Given the description of an element on the screen output the (x, y) to click on. 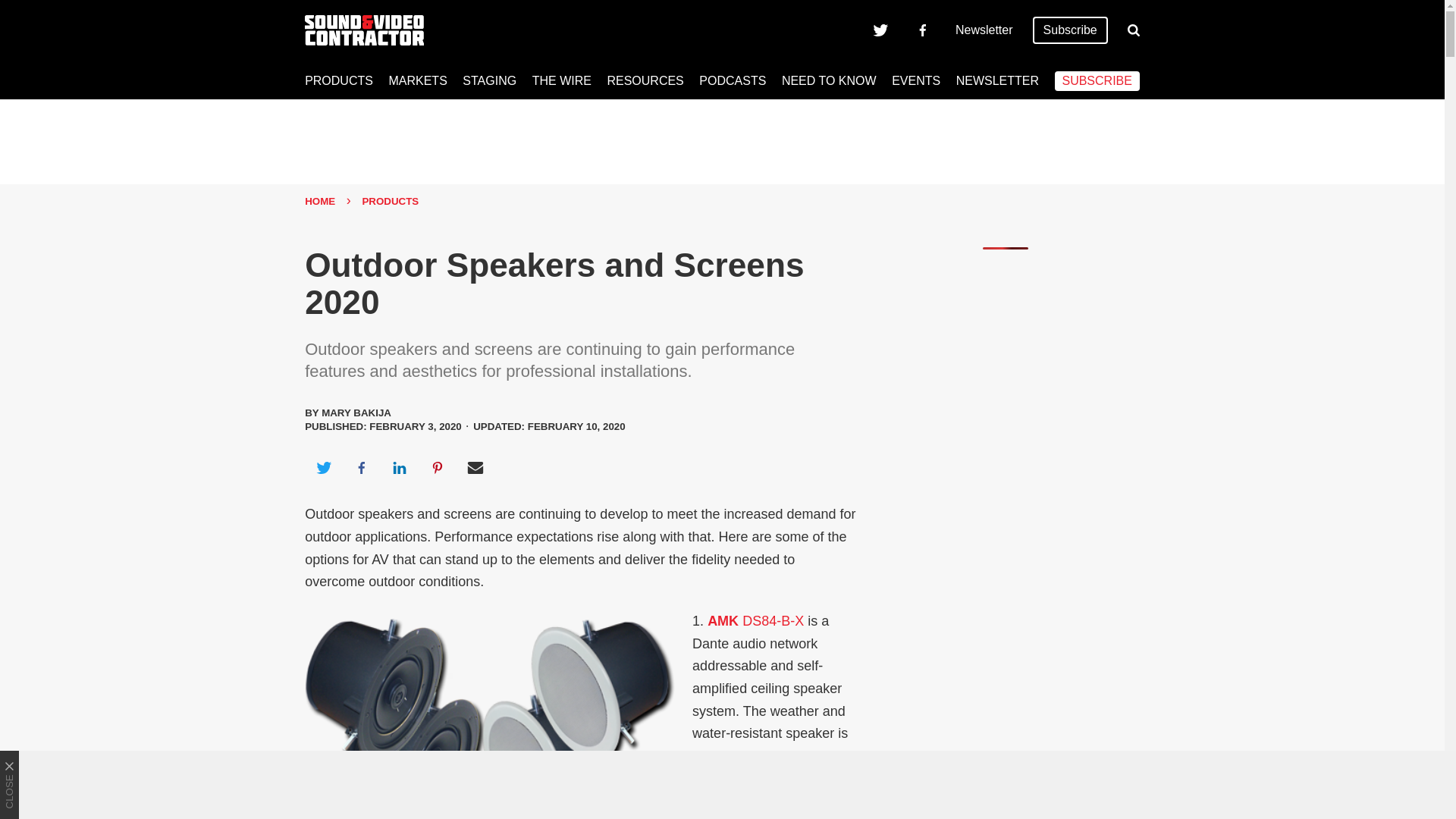
Share on Twitter (323, 467)
Share via Email (476, 467)
Share on Facebook (361, 467)
Share on Pinterest (438, 467)
Share on LinkedIn (399, 467)
